Given the description of an element on the screen output the (x, y) to click on. 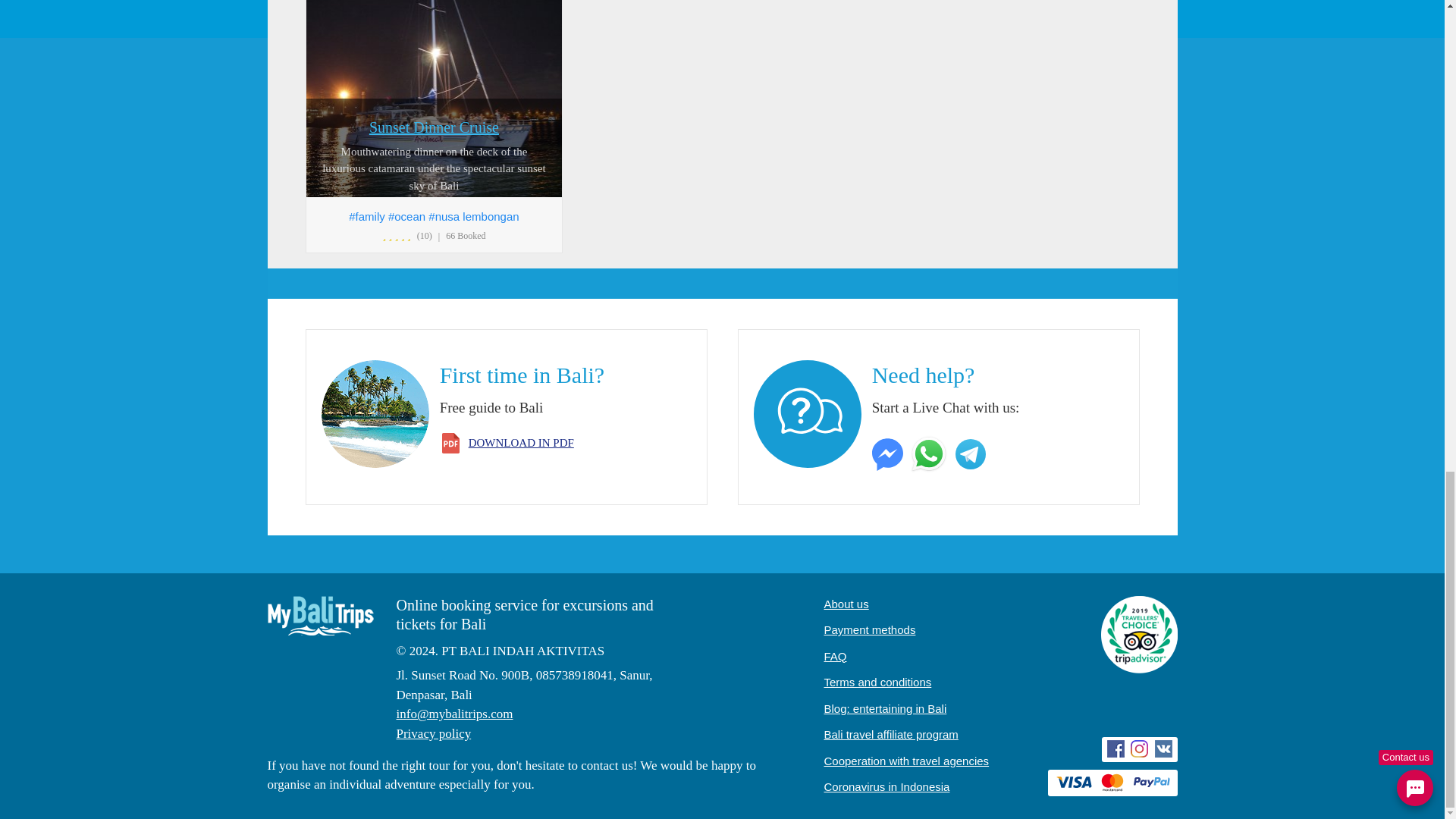
MasterCard (1111, 782)
PayPal (1150, 782)
DOWNLOAD IN PDF (520, 442)
Chat with us on Facebook (889, 452)
TripAdvisor (1138, 637)
Chat with us on WhatsApp (930, 452)
Privacy policy (433, 733)
Chat with us on Telegram (972, 452)
Visa (1073, 781)
